Given the description of an element on the screen output the (x, y) to click on. 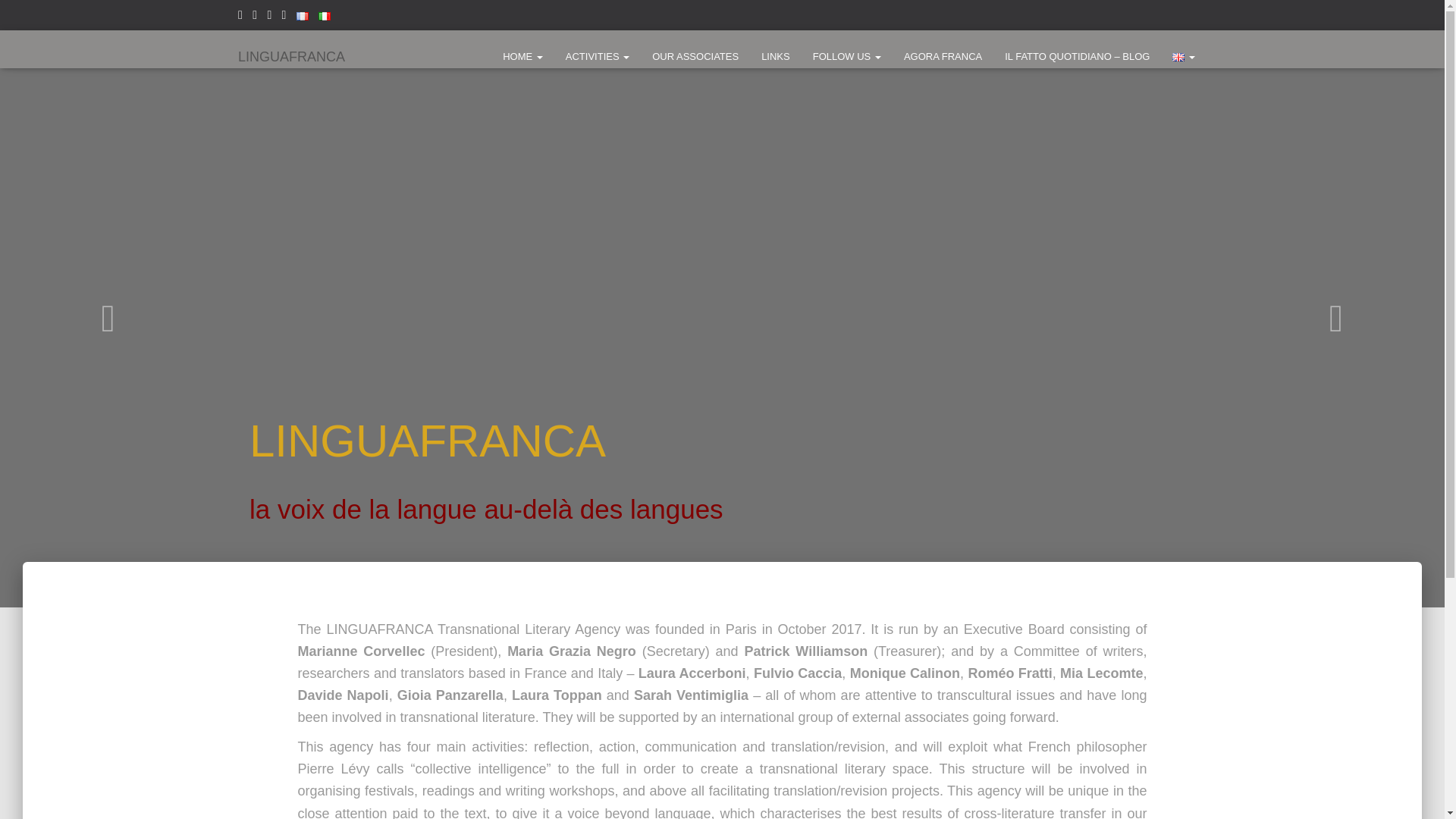
Follow us (847, 56)
Our associates (694, 56)
Links (775, 56)
LINGUAFRANCA (291, 56)
HOME (523, 56)
Home (523, 56)
LINKS (775, 56)
AGORA FRANCA (942, 56)
FOLLOW US (847, 56)
ACTIVITIES (597, 56)
